Given the description of an element on the screen output the (x, y) to click on. 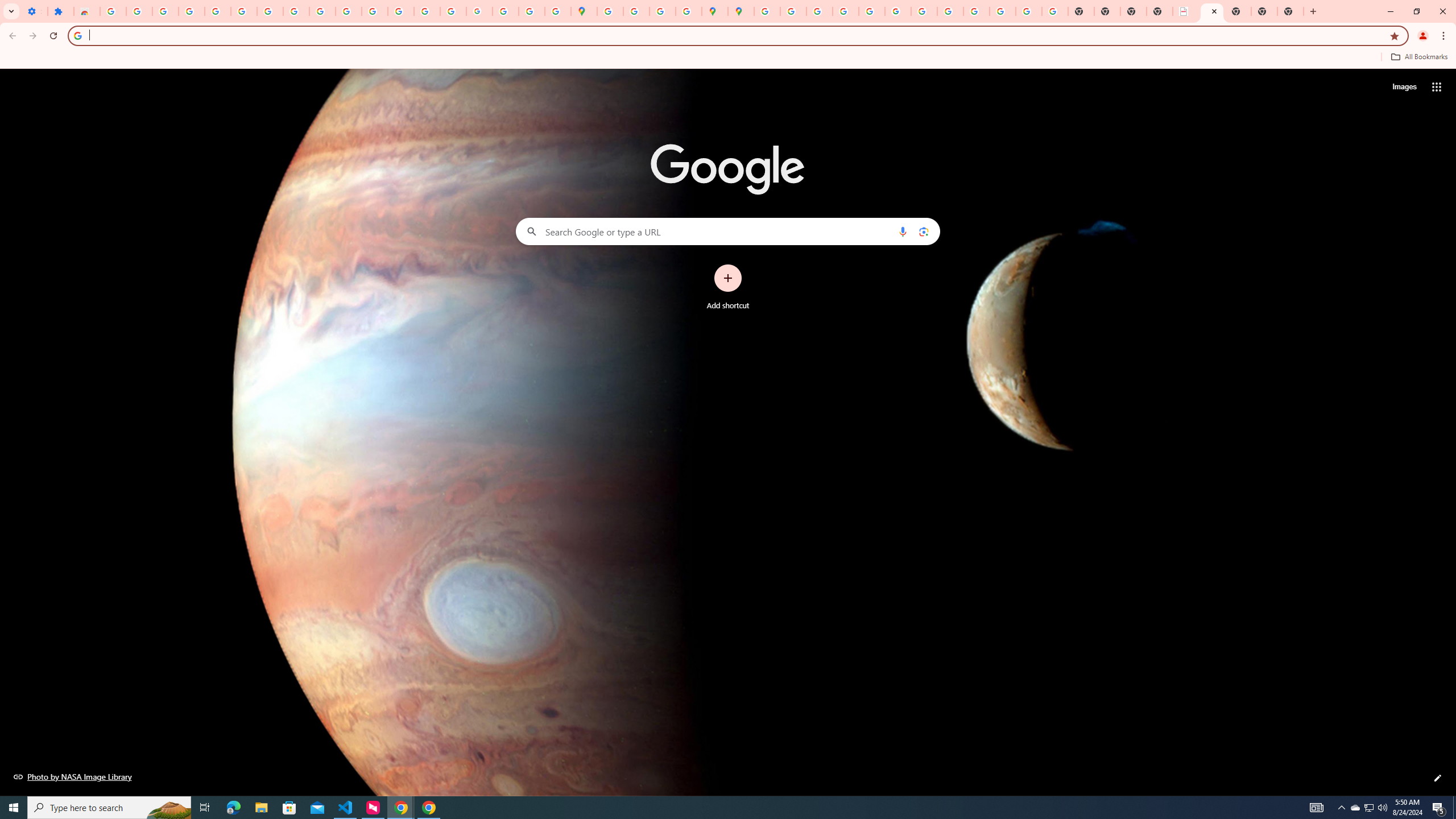
YouTube (923, 11)
https://scholar.google.com/ (374, 11)
Customize this page (1437, 778)
Delete photos & videos - Computer - Google Photos Help (165, 11)
